Given the description of an element on the screen output the (x, y) to click on. 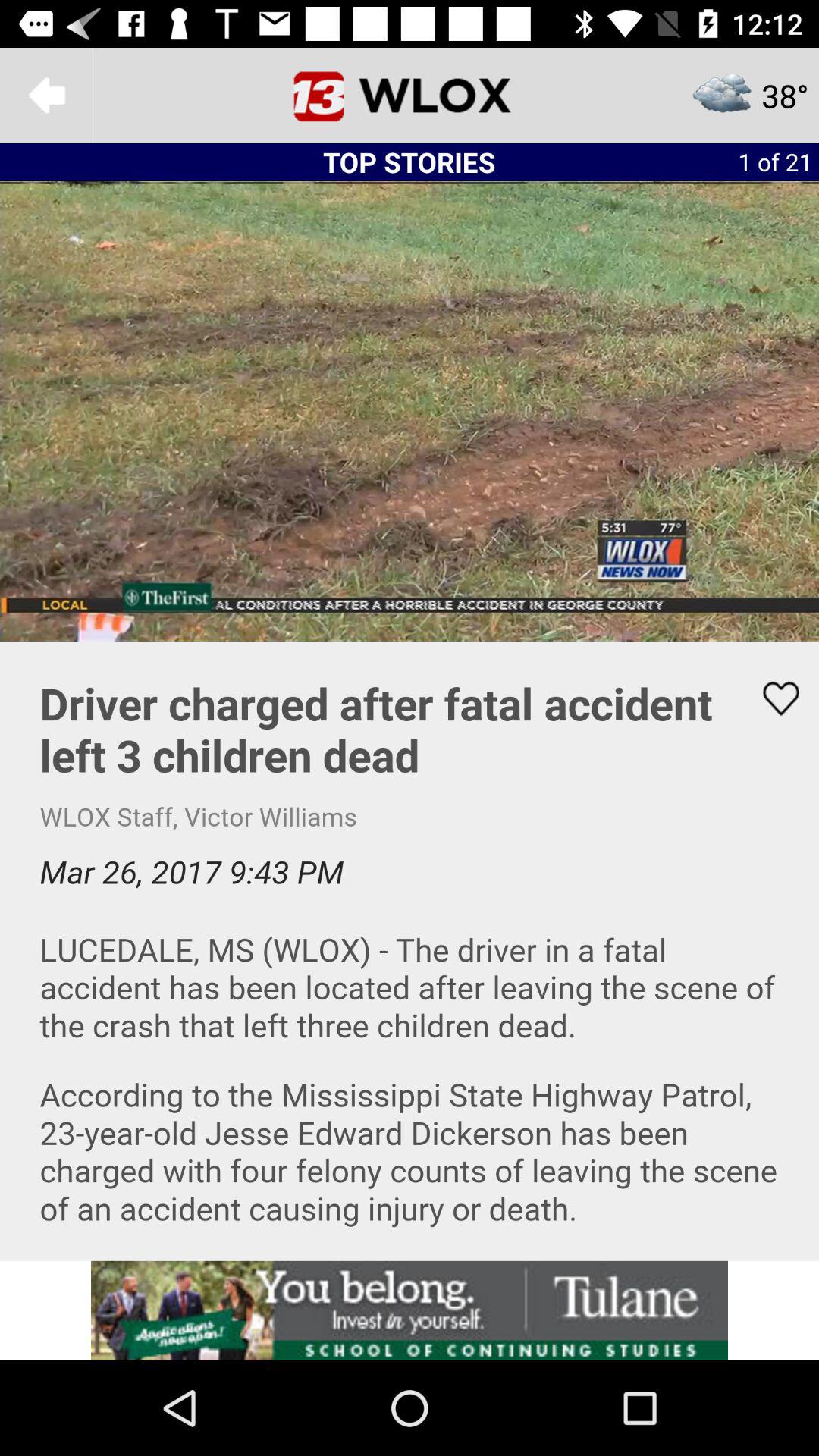
go back (47, 95)
